Given the description of an element on the screen output the (x, y) to click on. 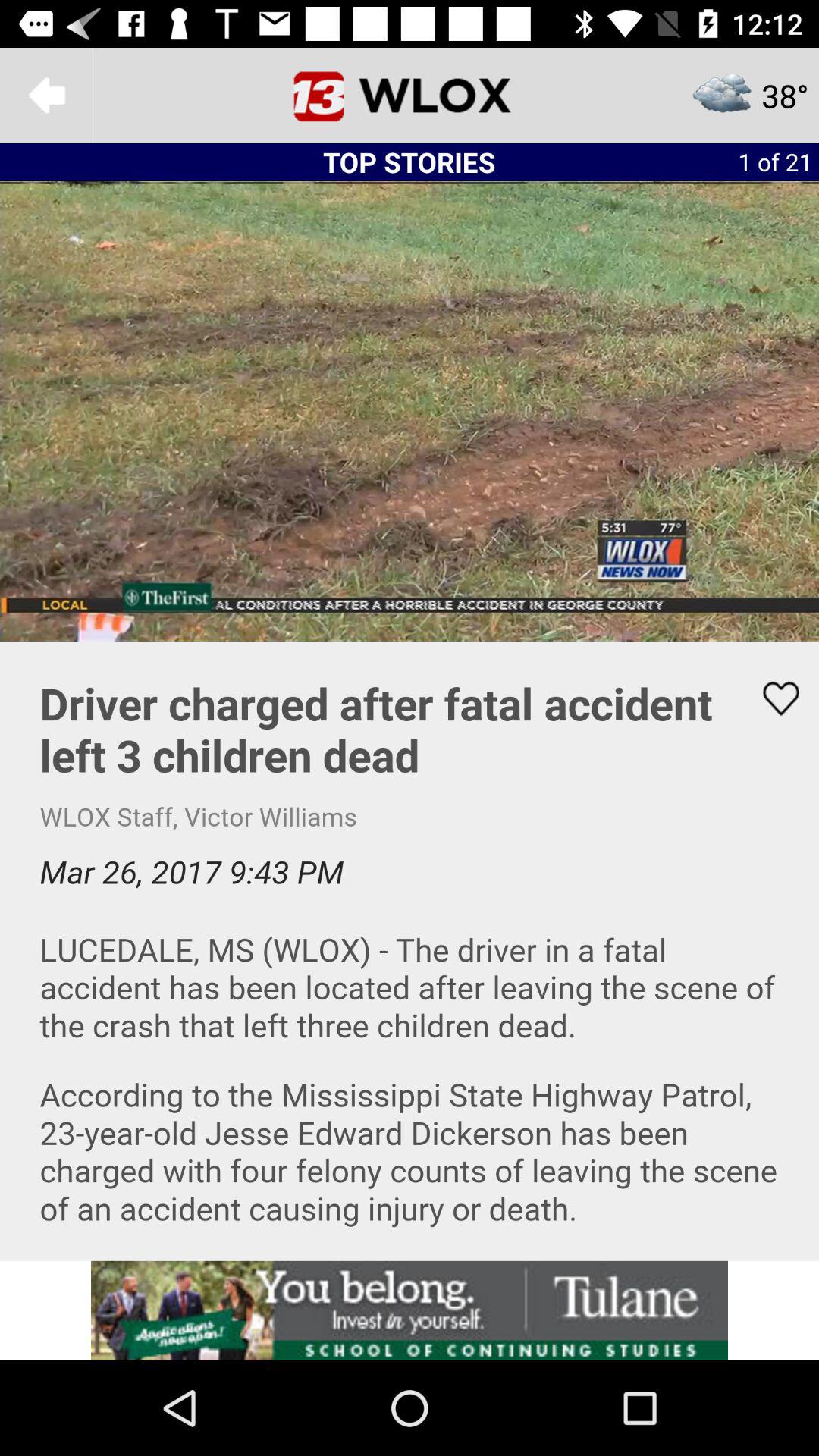
go back (47, 95)
